Given the description of an element on the screen output the (x, y) to click on. 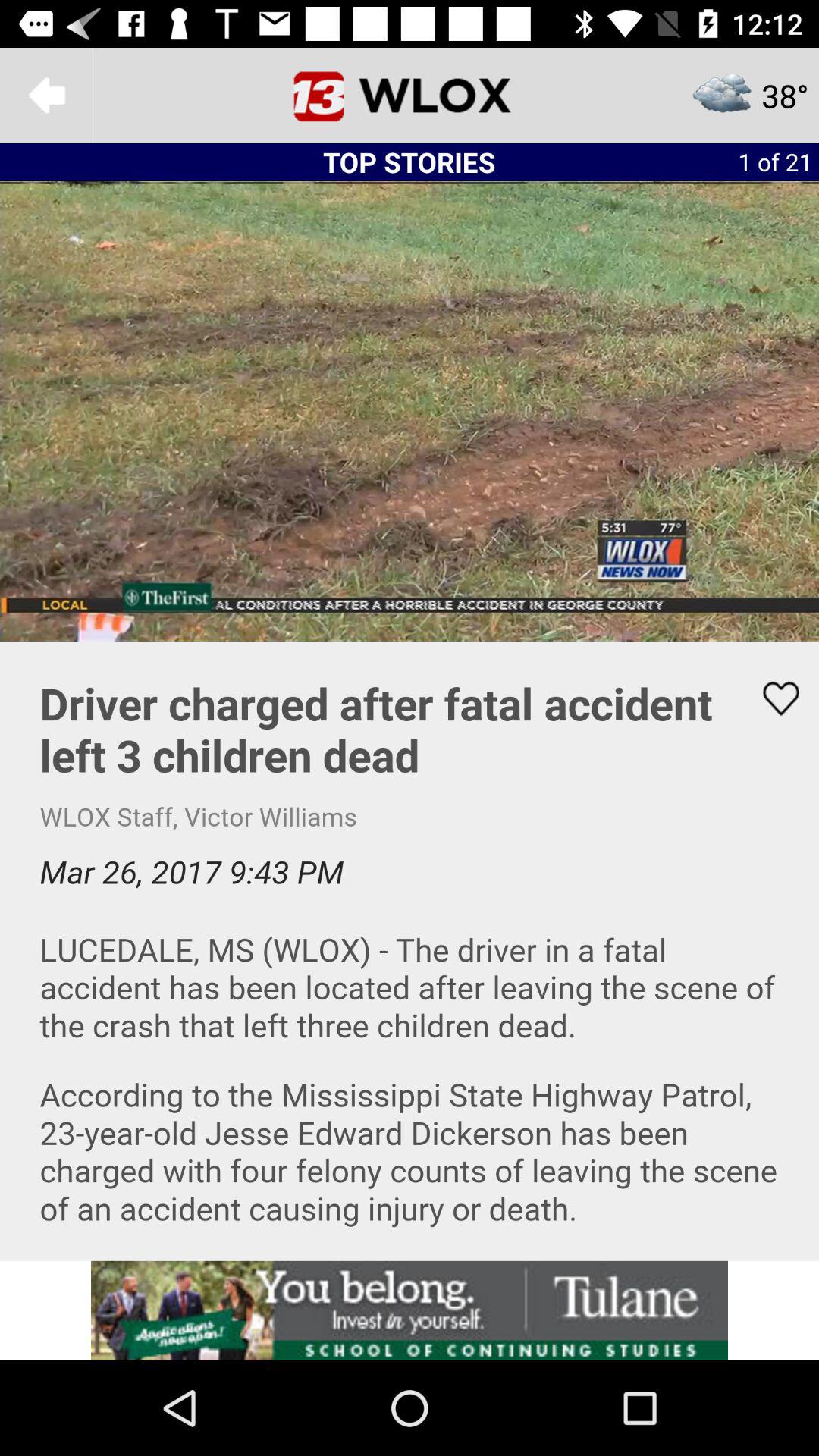
go back (47, 95)
